Given the description of an element on the screen output the (x, y) to click on. 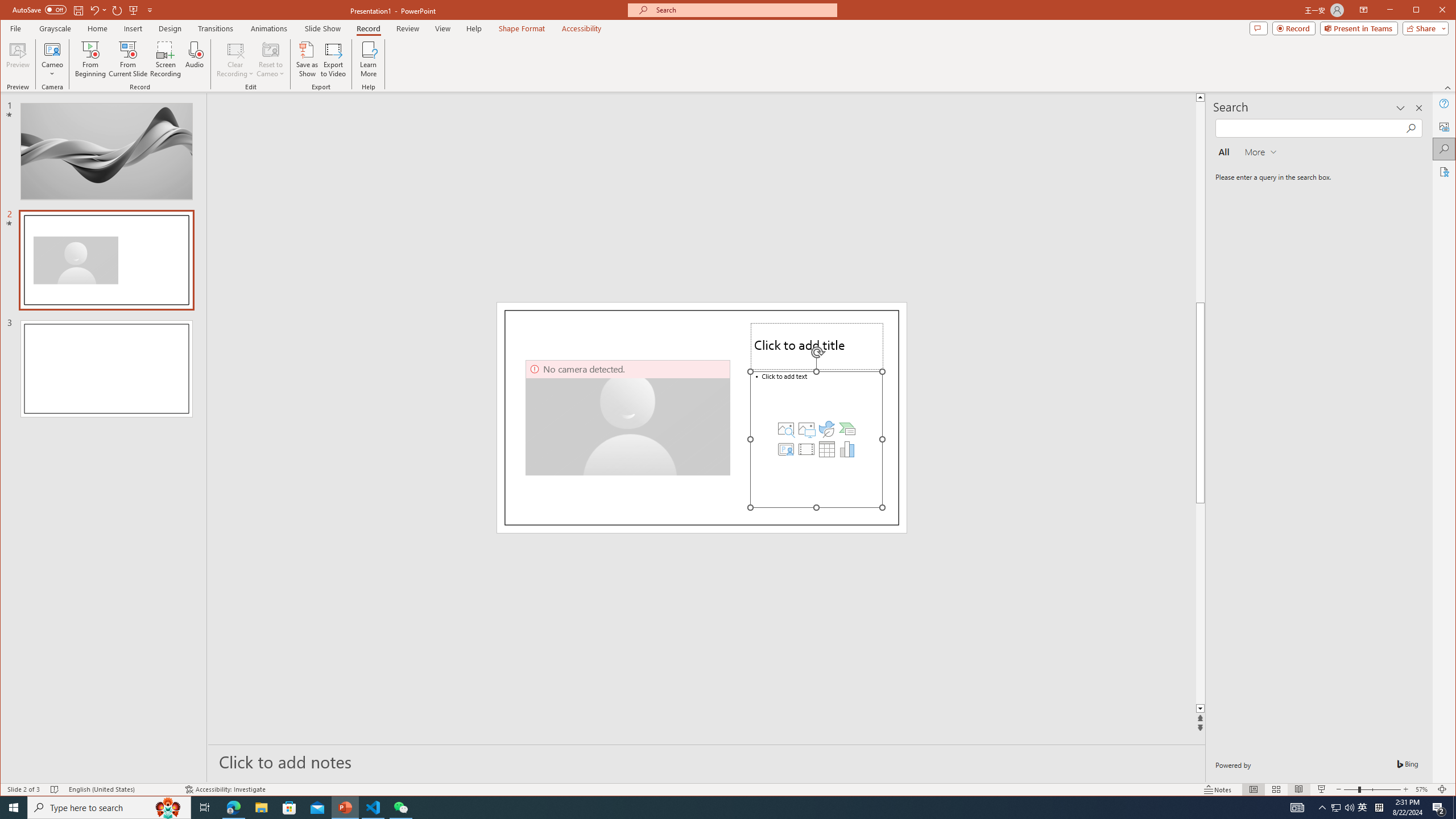
Insert an Icon (826, 428)
From Current Slide... (127, 59)
From Beginning... (90, 59)
AutomationID: 4105 (1297, 807)
Reset to Cameo (269, 59)
PowerPoint - 1 running window (345, 807)
Insert Table (826, 449)
Export to Video (333, 59)
Insert Video (806, 449)
